Given the description of an element on the screen output the (x, y) to click on. 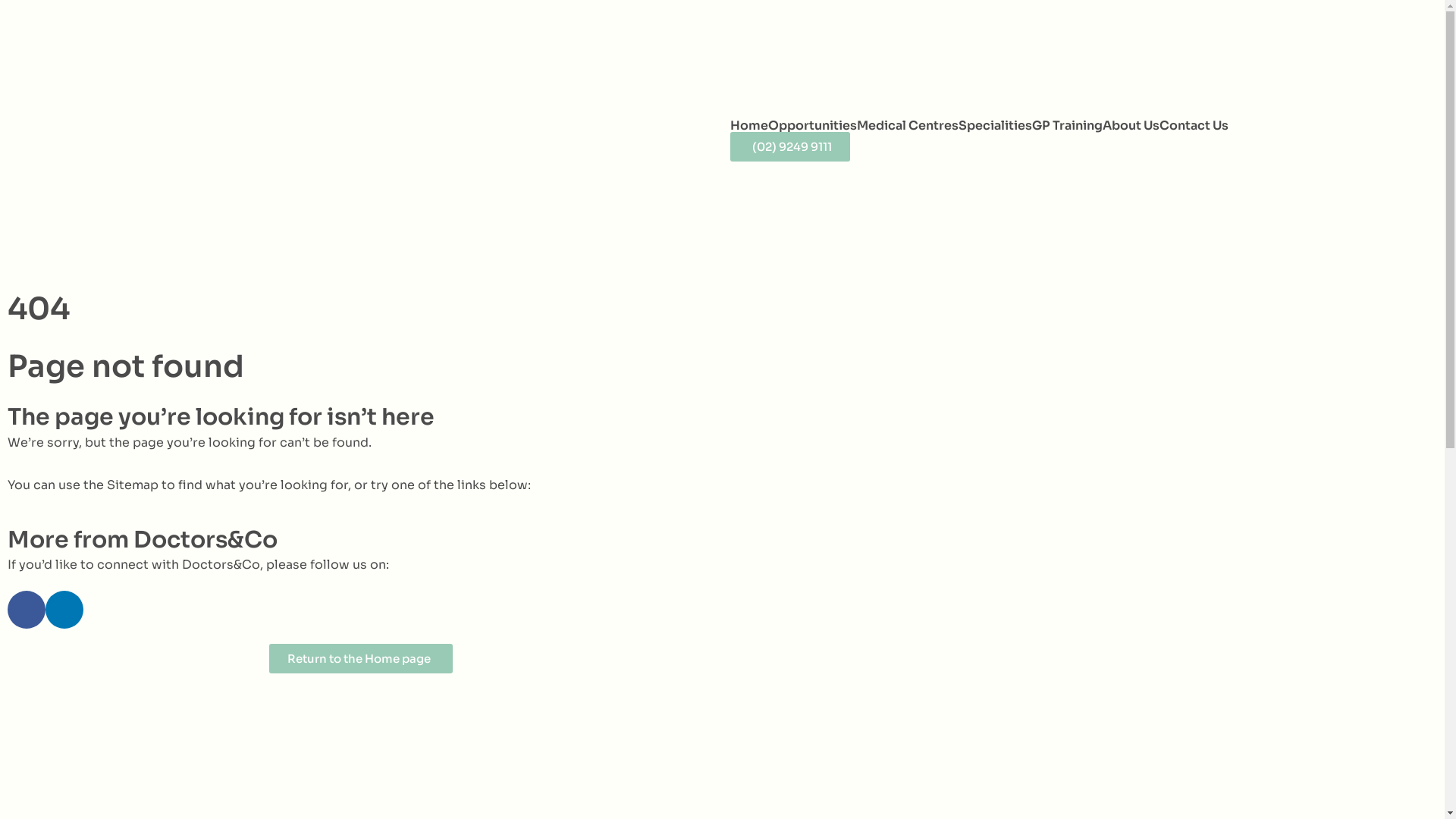
Facebook Element type: text (26, 609)
About Us Element type: text (1130, 125)
Specialities Element type: text (995, 125)
Linkedin Element type: text (64, 609)
(02) 9249 9111 Element type: text (789, 146)
Contact Us Element type: text (1192, 125)
Return to the Home page Element type: text (360, 658)
GP Training Element type: text (1066, 125)
Medical Centres Element type: text (907, 125)
Home Element type: text (748, 125)
Opportunities Element type: text (811, 125)
